Given the description of an element on the screen output the (x, y) to click on. 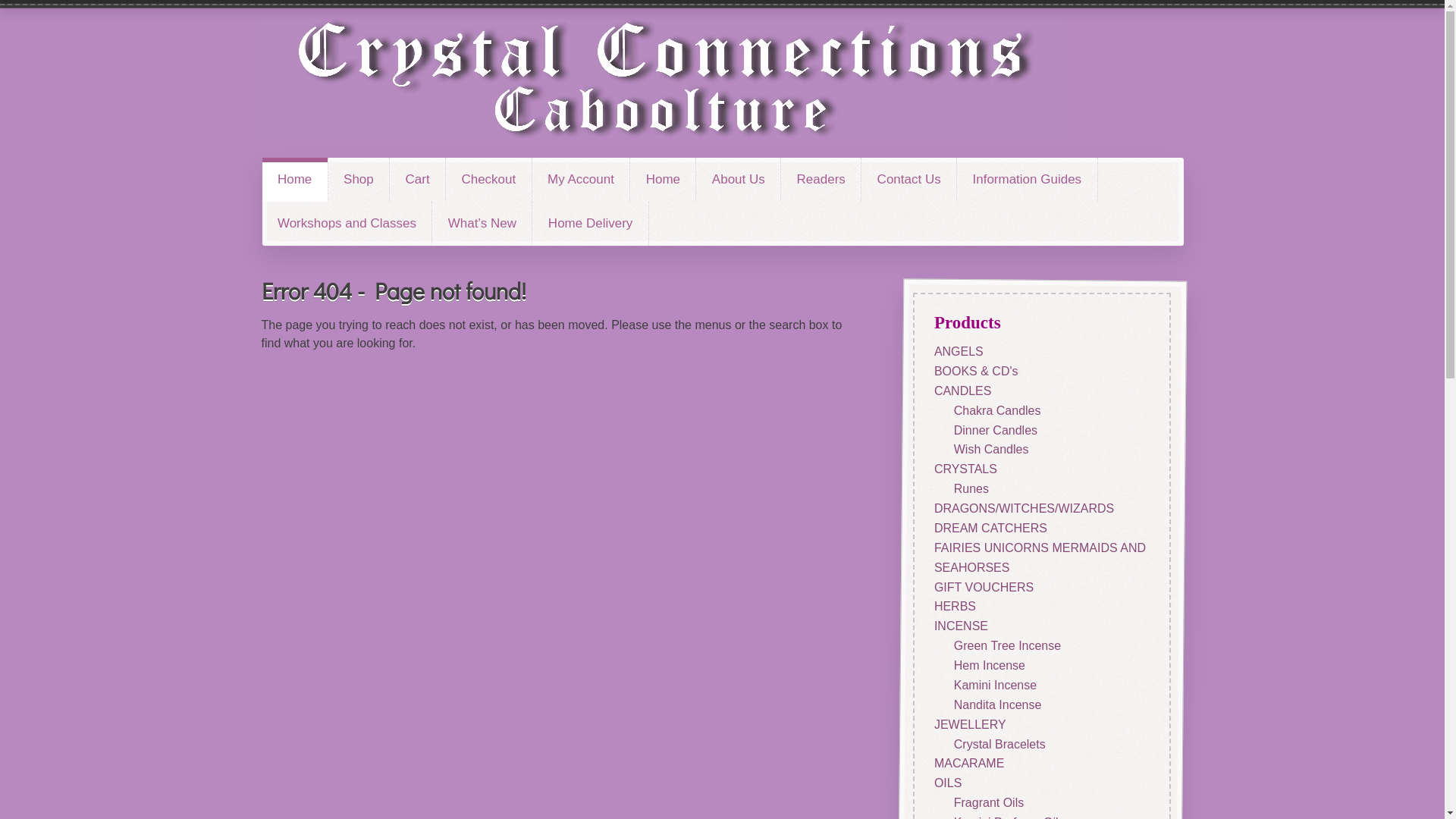
BOOKS & CD's Element type: text (975, 370)
DREAM CATCHERS Element type: text (989, 526)
Home Delivery Element type: text (589, 223)
CANDLES Element type: text (962, 389)
GIFT VOUCHERS Element type: text (982, 586)
JEWELLERY Element type: text (969, 723)
Contact Us Element type: text (908, 179)
CRYSTALS Element type: text (964, 468)
Cart Element type: text (417, 179)
OILS Element type: text (946, 782)
HERBS Element type: text (954, 605)
Shop Element type: text (358, 179)
Kamini Incense Element type: text (994, 683)
Dinner Candles Element type: text (994, 429)
Home Element type: text (294, 179)
Readers Element type: text (820, 179)
Workshops and Classes Element type: text (347, 223)
My Account Element type: text (581, 179)
Hem Incense Element type: text (988, 664)
Checkout Element type: text (488, 179)
ANGELS Element type: text (957, 351)
Crystal Connections Caboolture Element type: hover (663, 78)
Fragrant Oils Element type: text (987, 802)
Wish Candles Element type: text (990, 448)
Home Element type: text (662, 179)
Crystal Bracelets Element type: text (998, 743)
DRAGONS/WITCHES/WIZARDS Element type: text (1023, 508)
Chakra Candles Element type: text (996, 409)
Runes Element type: text (970, 488)
Green Tree Incense Element type: text (1006, 645)
About Us Element type: text (738, 179)
Information Guides Element type: text (1026, 179)
Nandita Incense Element type: text (997, 703)
MACARAME Element type: text (968, 762)
FAIRIES UNICORNS MERMAIDS AND SEAHORSES Element type: text (1039, 556)
INCENSE Element type: text (960, 625)
